Given the description of an element on the screen output the (x, y) to click on. 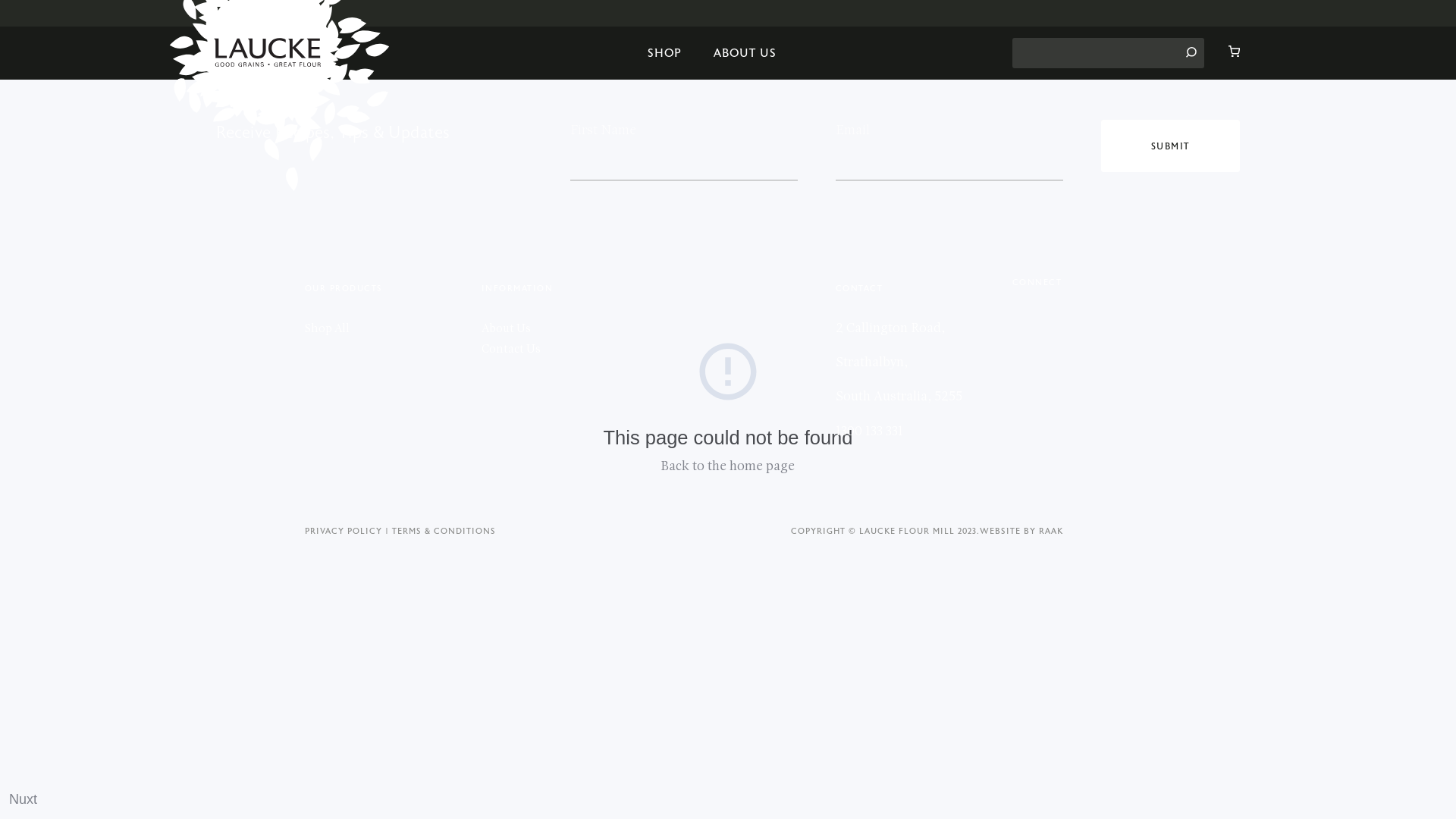
Contact Us Element type: text (510, 348)
Nuxt Element type: text (23, 798)
CONTACT Element type: text (859, 300)
WEBSITE BY RAAK Element type: text (1021, 531)
OUR PRODUCTS Element type: text (343, 300)
Back to the home page Element type: text (727, 465)
About Us Element type: text (505, 328)
TERMS & CONDITIONS Element type: text (443, 531)
PRIVACY POLICY Element type: text (348, 531)
SUBMIT Element type: text (1170, 145)
Shop All Element type: text (326, 328)
SHOP Element type: text (664, 52)
INFORMATION Element type: text (517, 300)
ABOUT US Element type: text (744, 52)
